Given the description of an element on the screen output the (x, y) to click on. 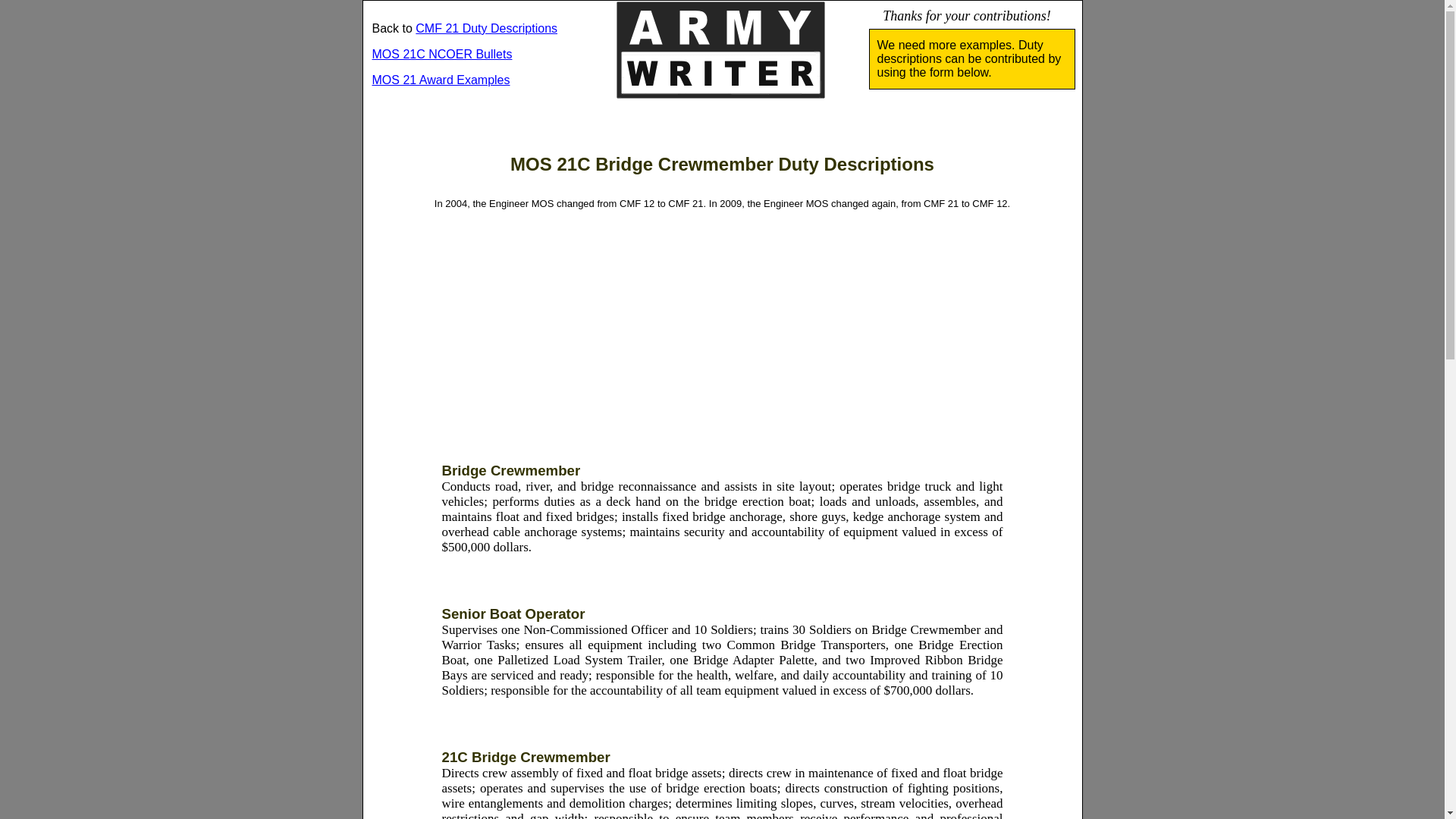
MOS 21 Award Examples (440, 79)
MOS 21C NCOER Bullets (441, 53)
CMF 21 Duty Descriptions (485, 28)
